Given the description of an element on the screen output the (x, y) to click on. 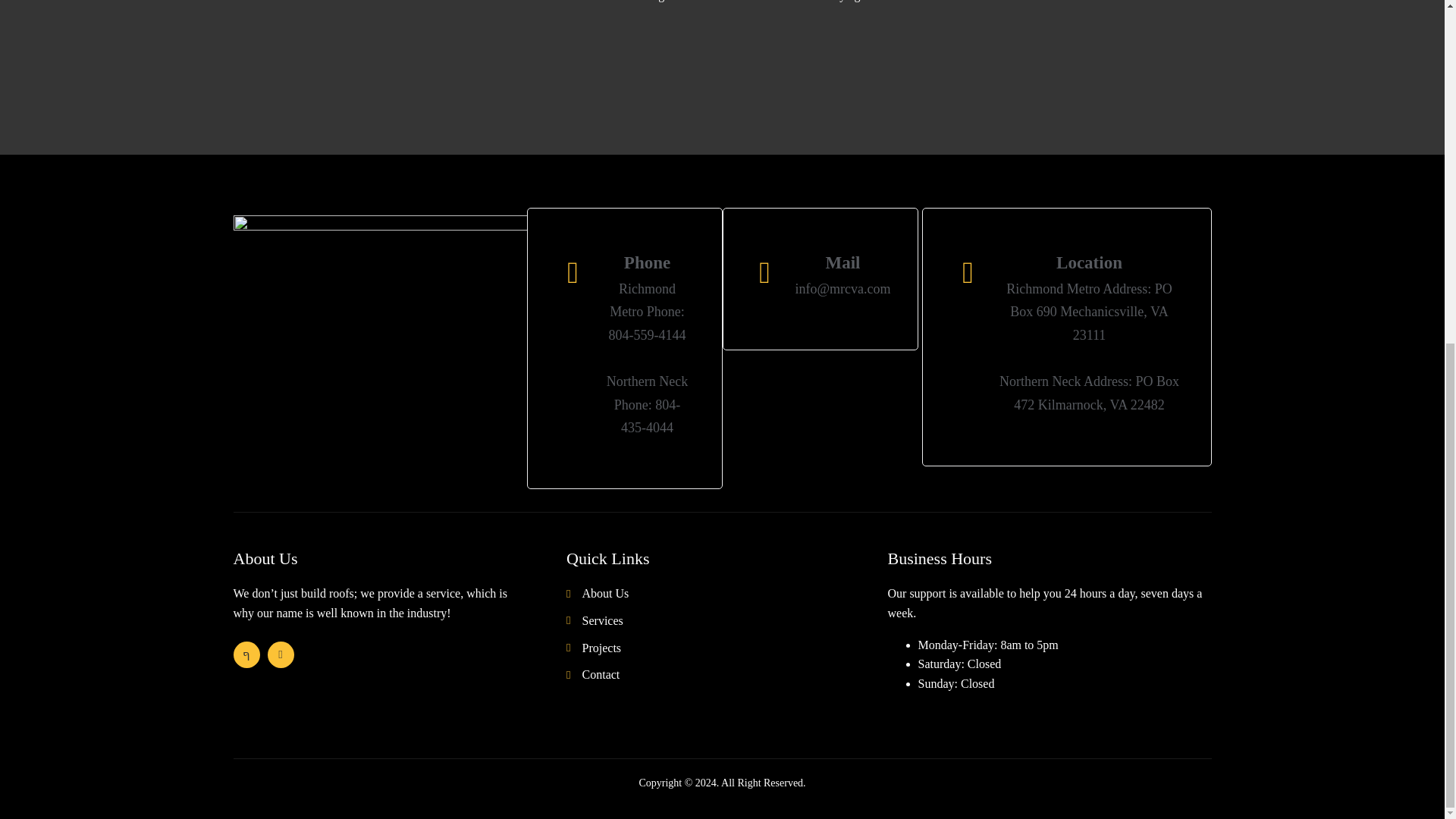
Contact (726, 674)
Services (726, 620)
About Us (726, 593)
Projects (726, 648)
